Given the description of an element on the screen output the (x, y) to click on. 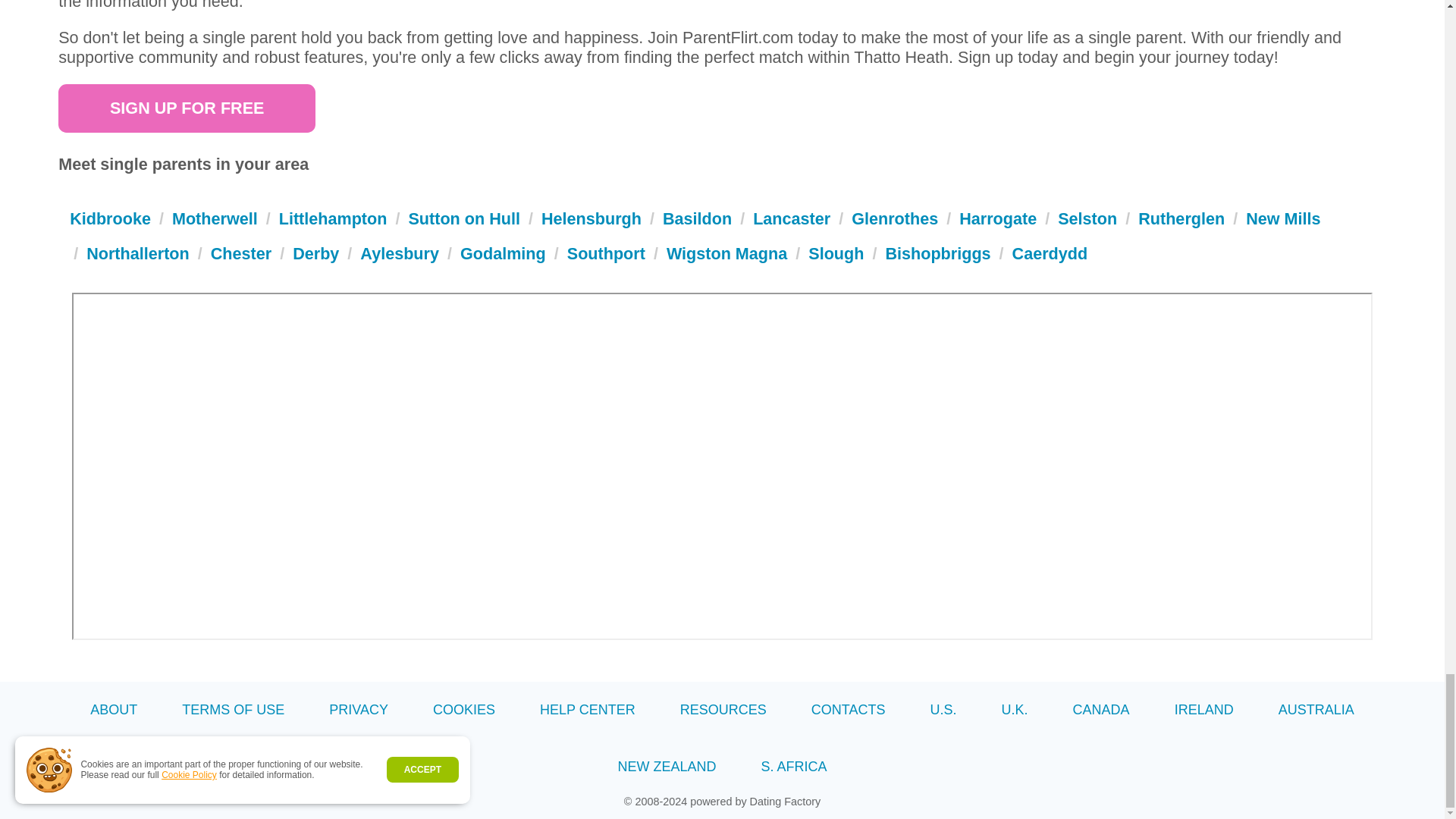
SIGN UP FOR FREE (186, 108)
Motherwell (214, 218)
Kidbrooke (110, 218)
Littlehampton (333, 218)
